Given the description of an element on the screen output the (x, y) to click on. 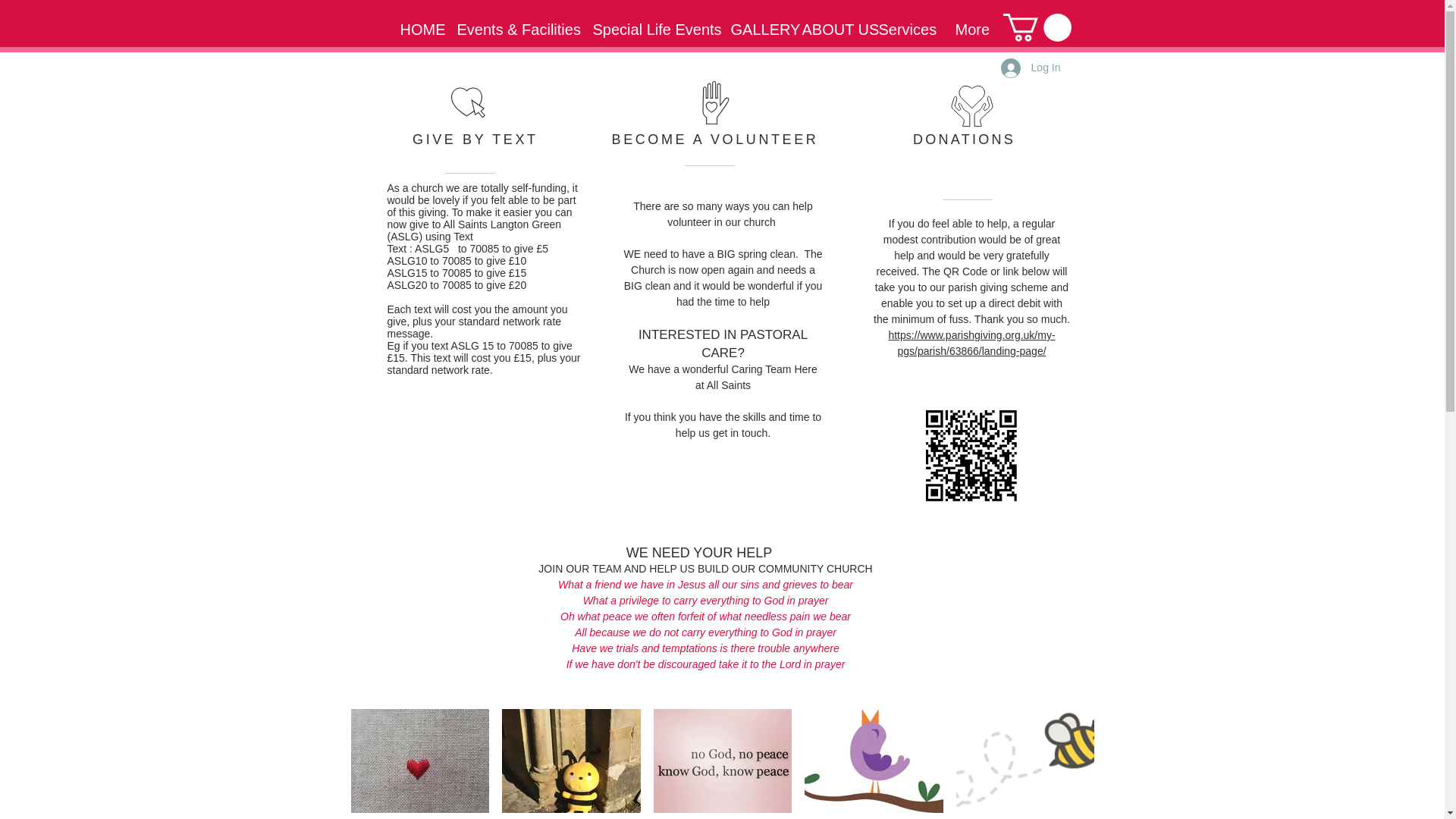
Special Life Events (649, 29)
Log In (1030, 68)
ABOUT US (828, 29)
GALLERY (754, 29)
HOME (416, 29)
Services (905, 29)
